Given the description of an element on the screen output the (x, y) to click on. 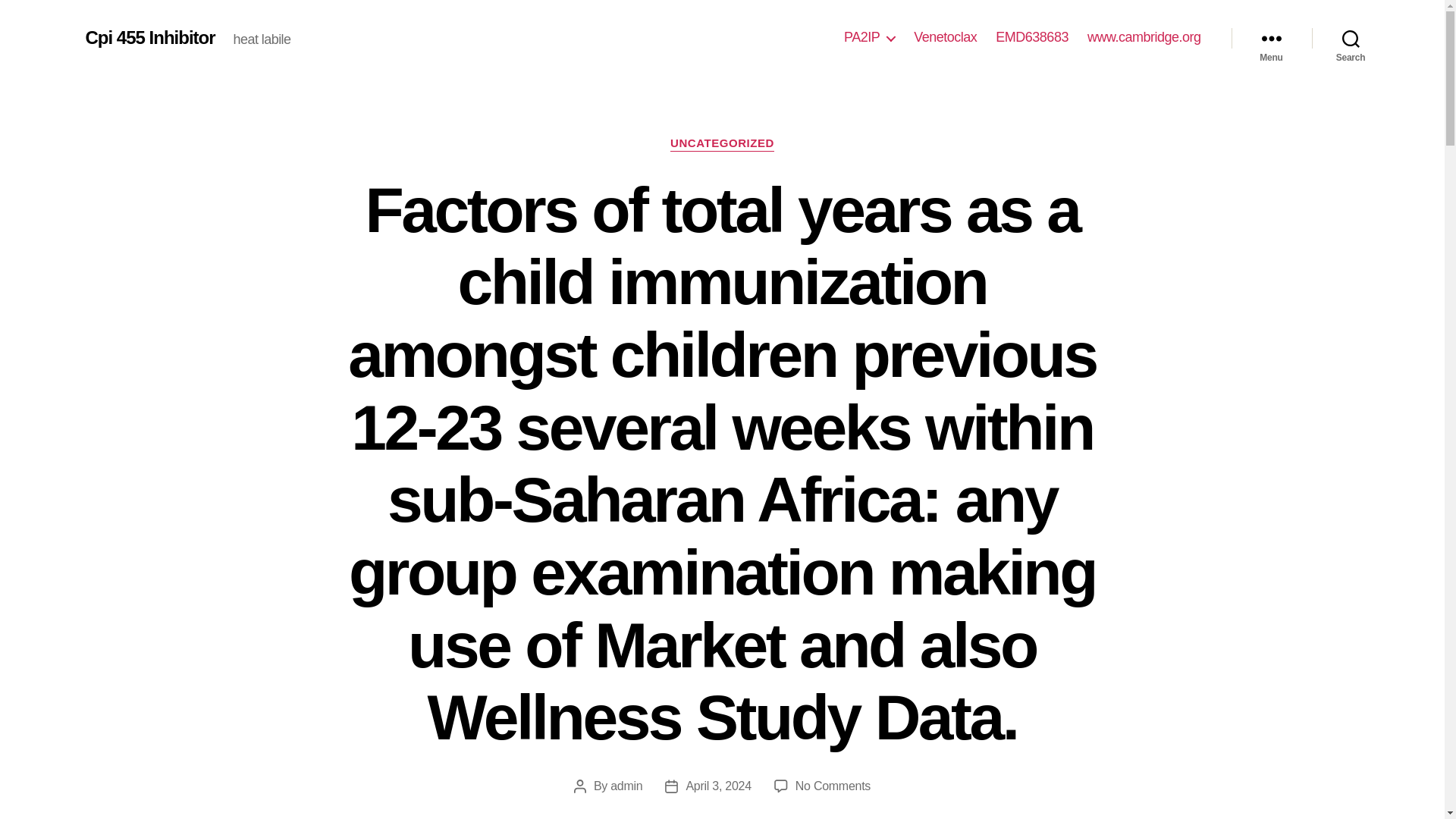
PA2IP (869, 37)
EMD638683 (1031, 37)
Cpi 455 Inhibitor (149, 37)
www.cambridge.org (1144, 37)
Search (1350, 37)
Venetoclax (945, 37)
Menu (1271, 37)
